Given the description of an element on the screen output the (x, y) to click on. 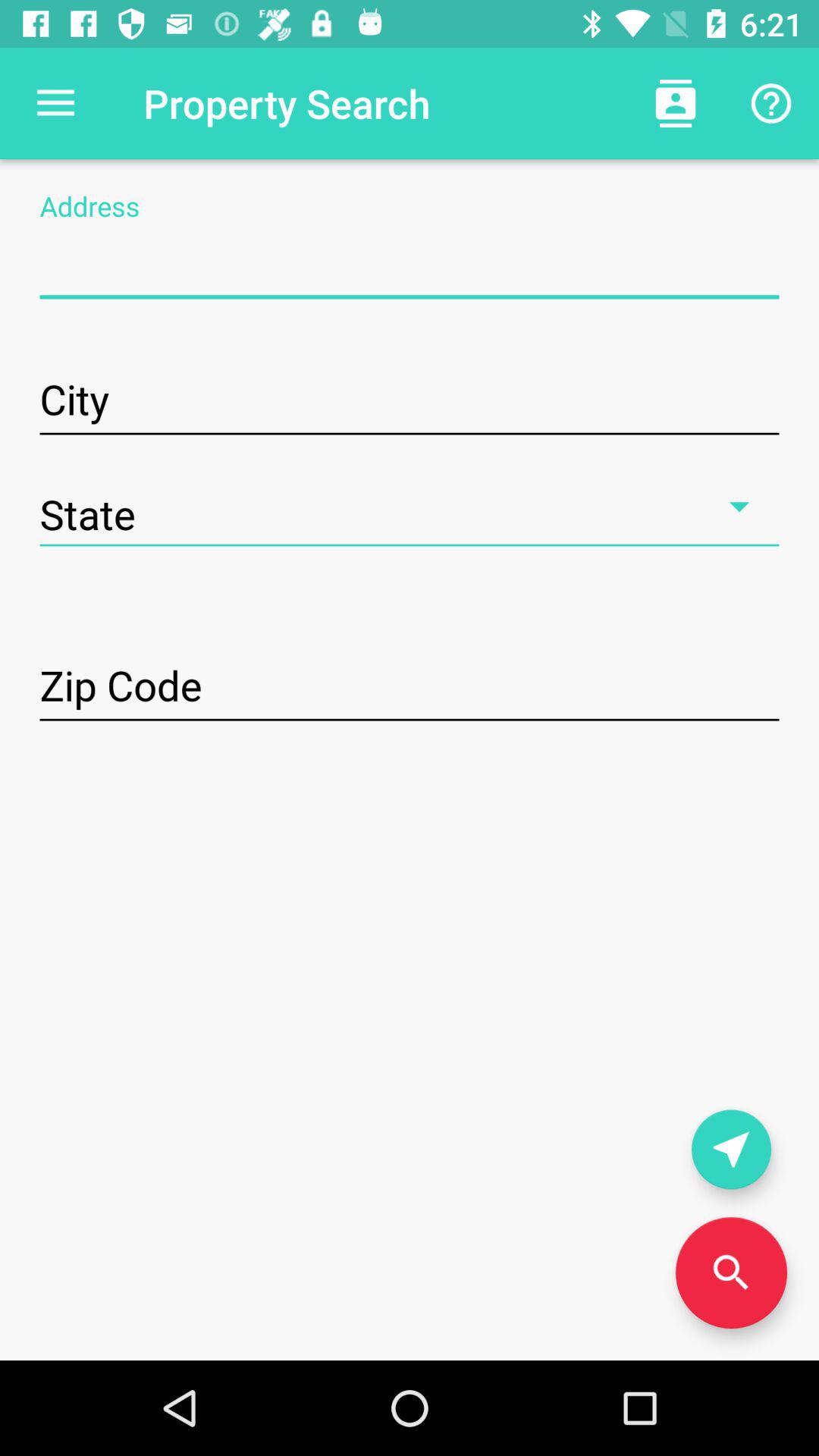
open the item to the left of property search (55, 103)
